Given the description of an element on the screen output the (x, y) to click on. 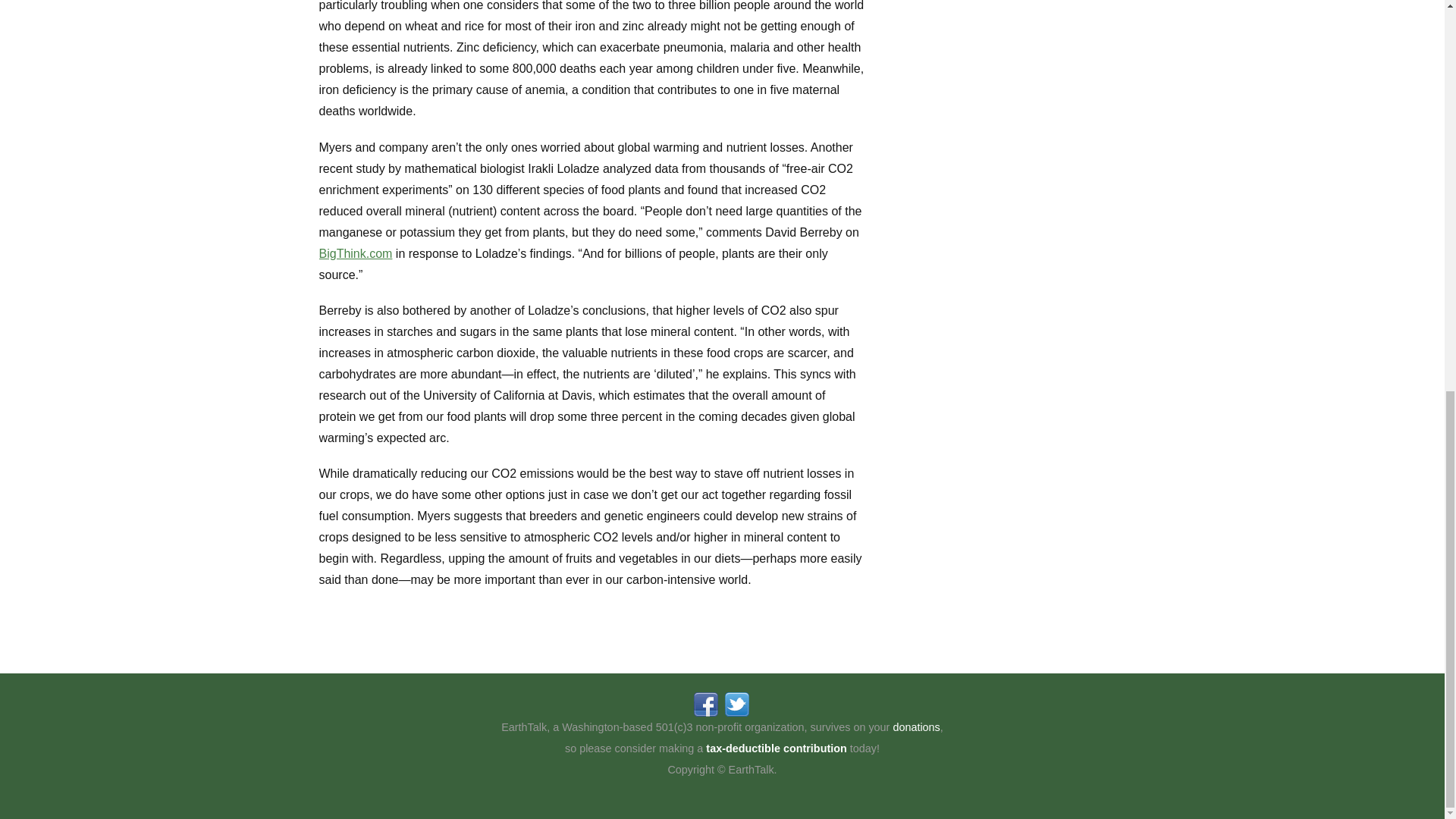
BigThink.com (354, 253)
tax-deductible contribution (775, 748)
donations (915, 727)
